Given the description of an element on the screen output the (x, y) to click on. 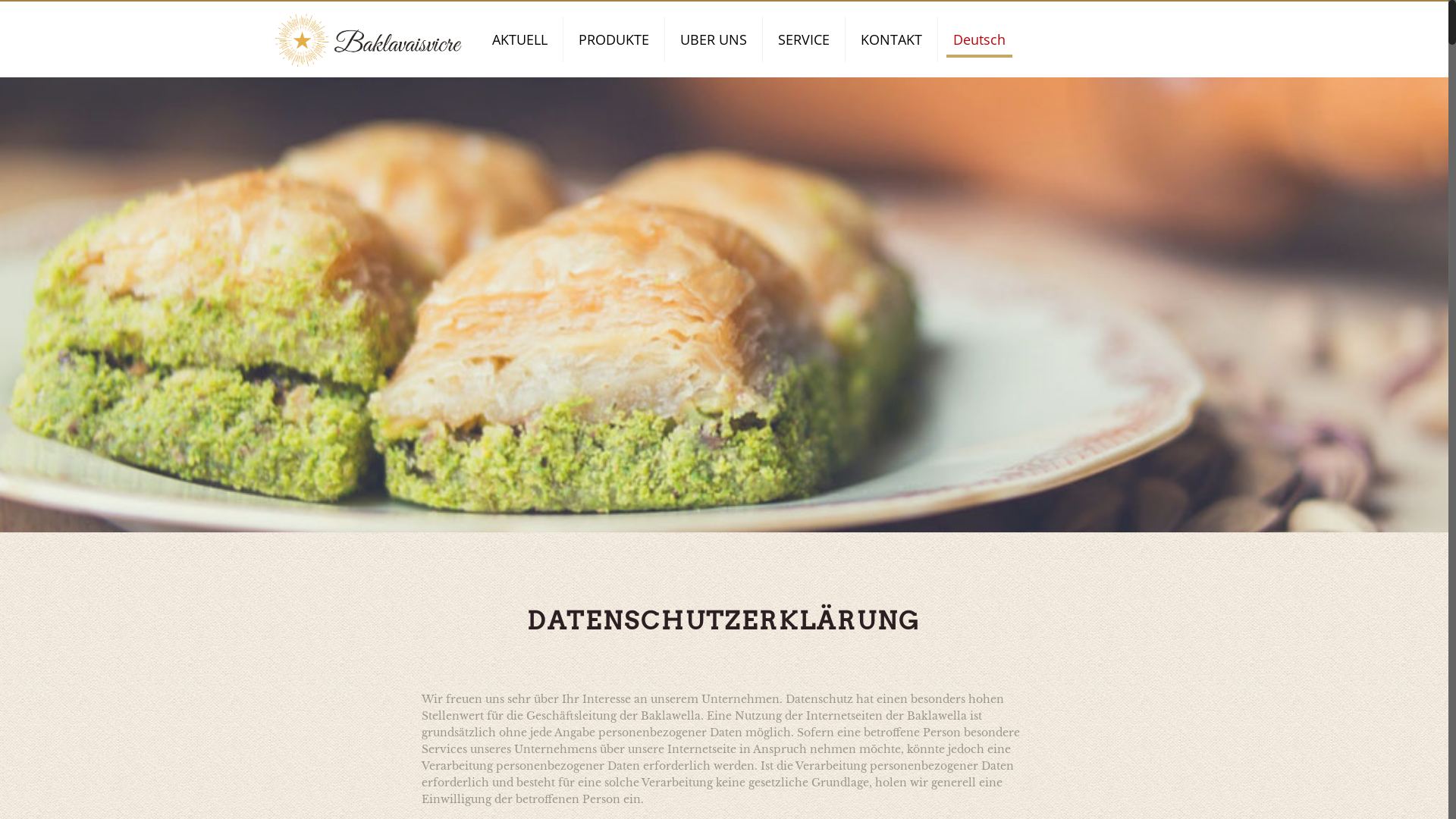
SERVICE Element type: text (803, 39)
PRODUKTE Element type: text (614, 39)
Deutsch Element type: text (979, 39)
KONTAKT Element type: text (891, 39)
http://www.baklavaisvicre.ch Element type: hover (368, 39)
AKTUELL Element type: text (519, 39)
UBER UNS Element type: text (713, 39)
